Given the description of an element on the screen output the (x, y) to click on. 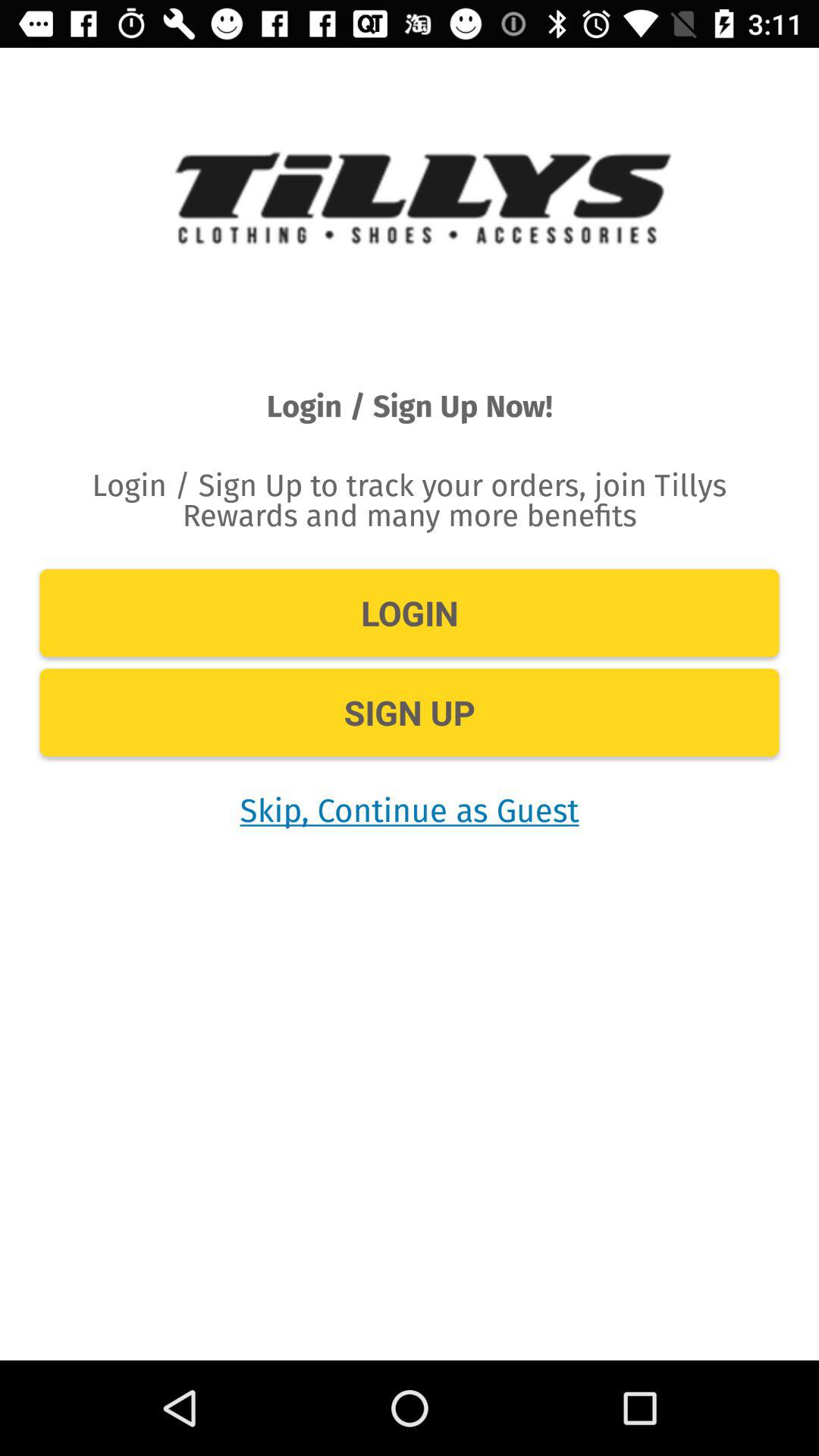
jump to skip continue as item (409, 809)
